Given the description of an element on the screen output the (x, y) to click on. 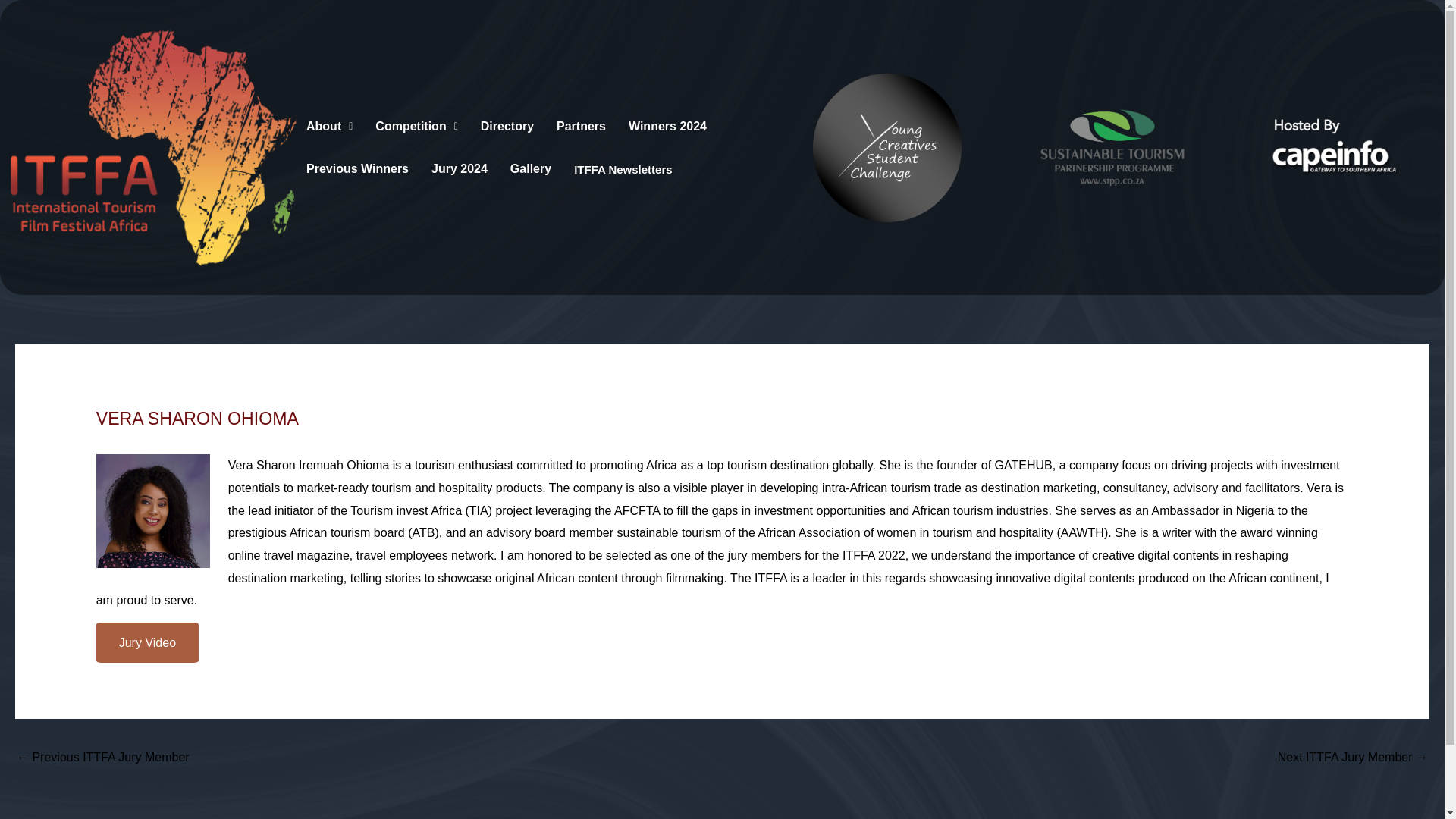
Gallery (530, 168)
Previous Winners (357, 168)
Partners (580, 125)
Winners 2024 (667, 125)
DORIS MARIA WORFEL (1353, 758)
Jury Video (147, 642)
Jury 2024 (459, 168)
About (328, 125)
Competition (416, 125)
ITFFA Newsletters (622, 168)
Directory (507, 125)
TOLENE VAN DER MERWE (102, 758)
